Given the description of an element on the screen output the (x, y) to click on. 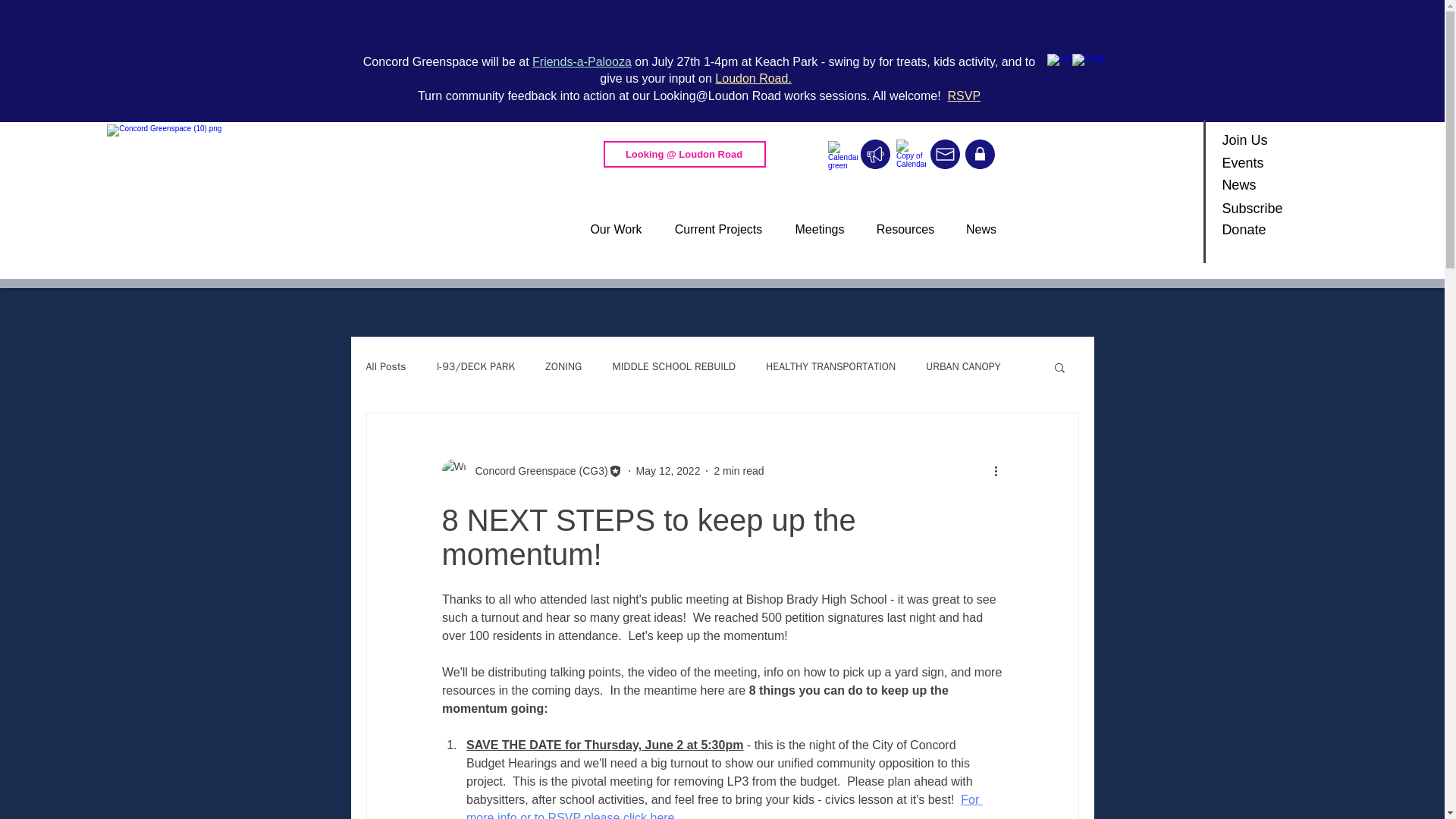
Loudon Road. (753, 78)
May 12, 2022 (668, 470)
RSVP (964, 95)
Current Projects (718, 229)
Our Work (615, 229)
2 min read (737, 470)
Meetings (819, 229)
Friends-a-Palooza (581, 61)
Resources (905, 229)
